Given the description of an element on the screen output the (x, y) to click on. 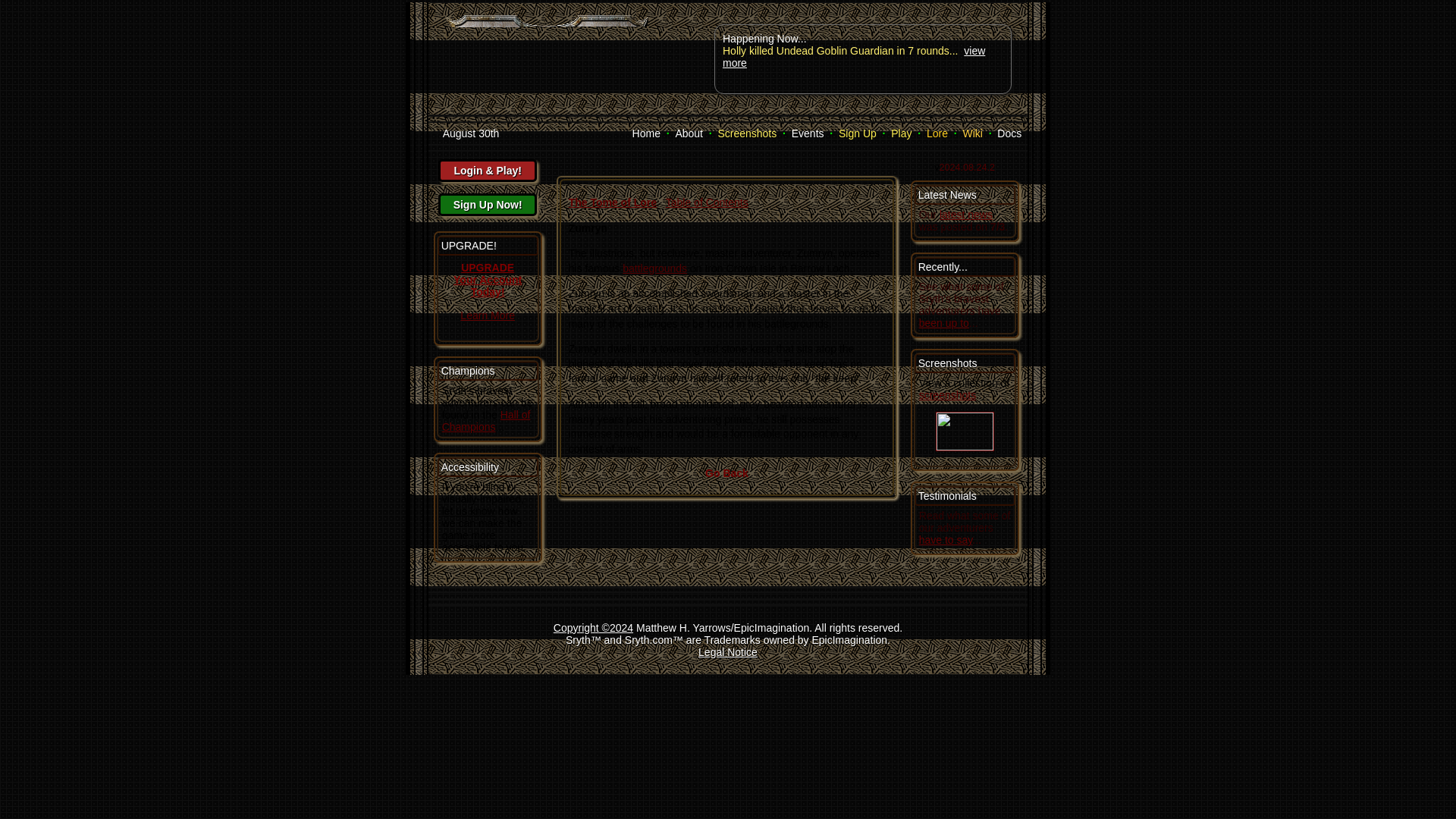
have to say (945, 539)
Champions (468, 370)
Table of Contents (706, 202)
Sign Up Now! (486, 204)
About (689, 133)
Latest News (947, 194)
Lore (936, 133)
UPGRADE! (468, 245)
let us know (468, 510)
Home (646, 133)
